Given the description of an element on the screen output the (x, y) to click on. 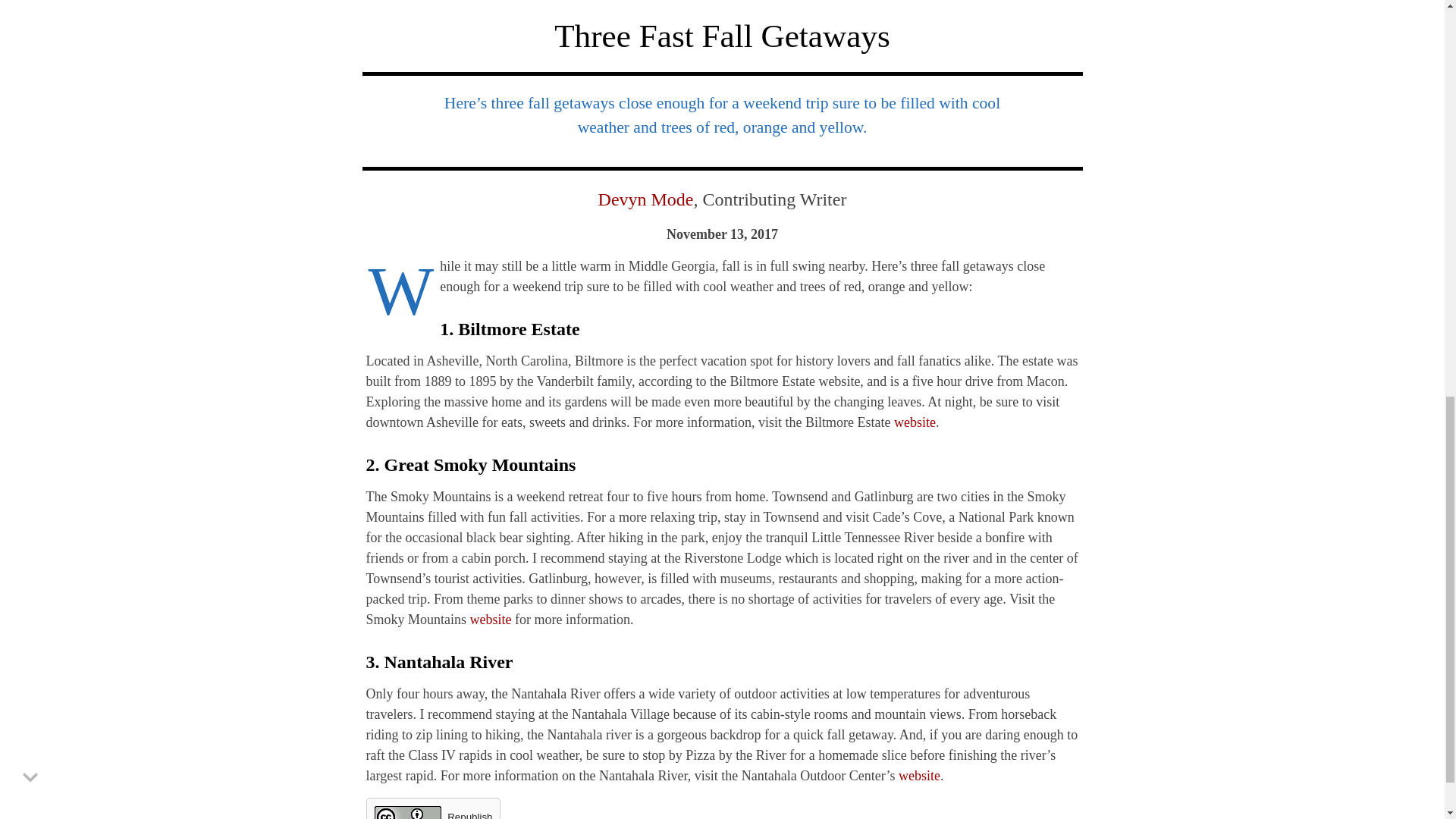
Devyn Mode (646, 199)
website (491, 619)
Republish (432, 808)
website (914, 421)
website (919, 775)
